Given the description of an element on the screen output the (x, y) to click on. 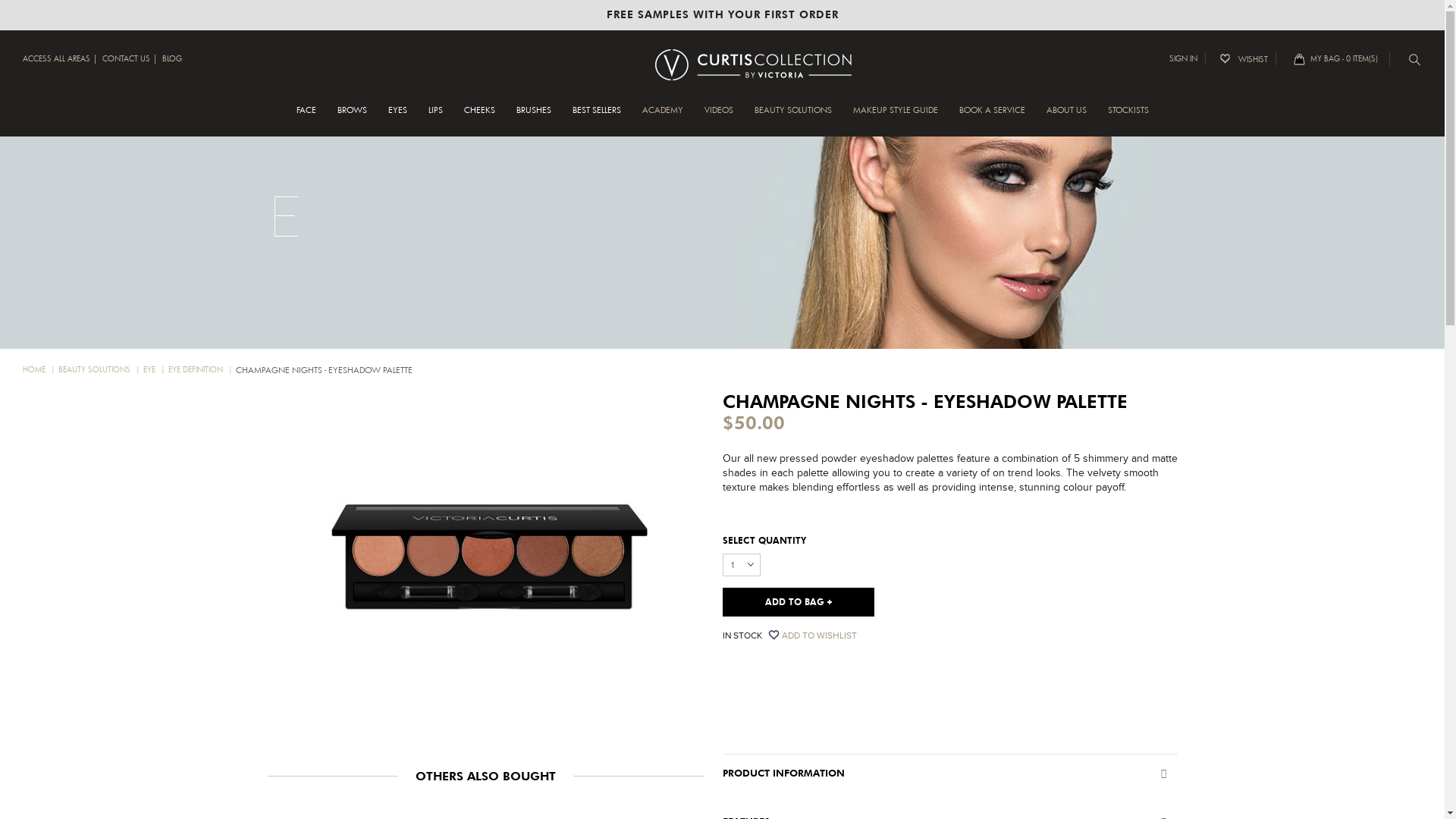
ACCESS ALL AREAS Element type: text (56, 58)
BLOG Element type: text (172, 58)
VIDEOS Element type: text (717, 117)
EYES Element type: text (397, 117)
ACADEMY Element type: text (661, 117)
BEAUTY SOLUTIONS Element type: text (792, 117)
BRUSHES Element type: text (532, 117)
ADD TO BAG Element type: text (797, 600)
EYE DEFINITION Element type: text (200, 369)
Champagne Nights - Eyeshadow Palette Element type: hover (488, 563)
SIGN IN Element type: text (1187, 58)
MY BAG - 0 ITEM(S) Element type: text (1347, 58)
LIPS Element type: text (434, 117)
CHEEKS Element type: text (479, 117)
ADD TO WISHLIST Element type: text (818, 634)
EYE Element type: text (154, 369)
BEAUTY SOLUTIONS Element type: text (99, 369)
PRODUCT INFORMATION Element type: text (948, 772)
BOOK A SERVICE Element type: text (991, 117)
ABOUT US Element type: text (1066, 117)
FIND YOUR PERFECT SHADE WITH THE MAKEUP STYLE GUIDE Element type: text (722, 14)
FACE Element type: text (305, 117)
STOCKISTS Element type: text (1127, 117)
HOME Element type: text (38, 369)
MAKEUP STYLE GUIDE Element type: text (894, 117)
WISHIST Element type: text (1247, 58)
BEST SELLERS Element type: text (595, 117)
CONTACT US Element type: text (126, 58)
BROWS Element type: text (351, 117)
